Given the description of an element on the screen output the (x, y) to click on. 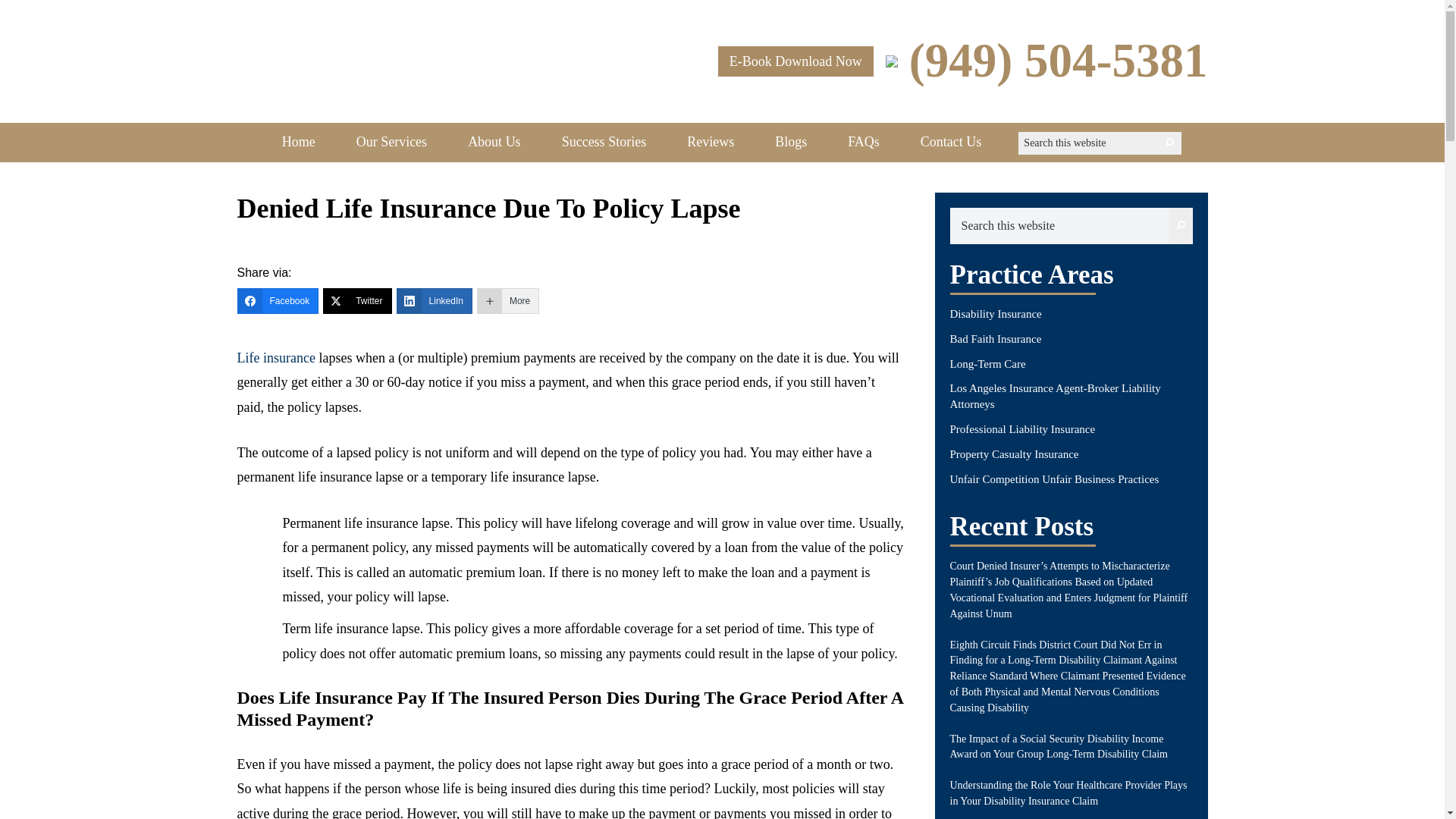
McKennon Law Group (383, 40)
Home (298, 141)
E-Book Download Now (796, 60)
Our Services (391, 141)
